Given the description of an element on the screen output the (x, y) to click on. 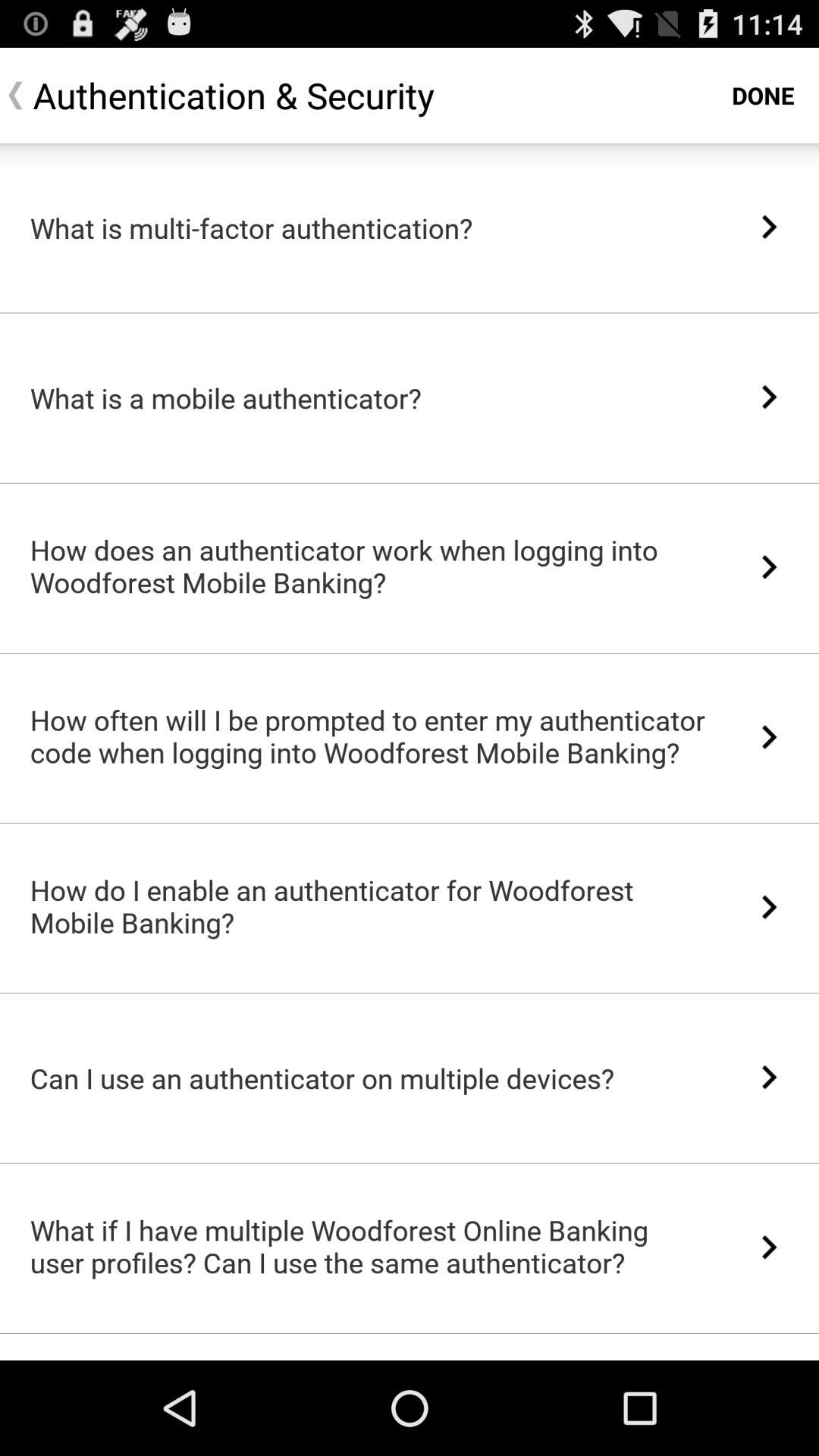
open icon next to what is a item (768, 396)
